Given the description of an element on the screen output the (x, y) to click on. 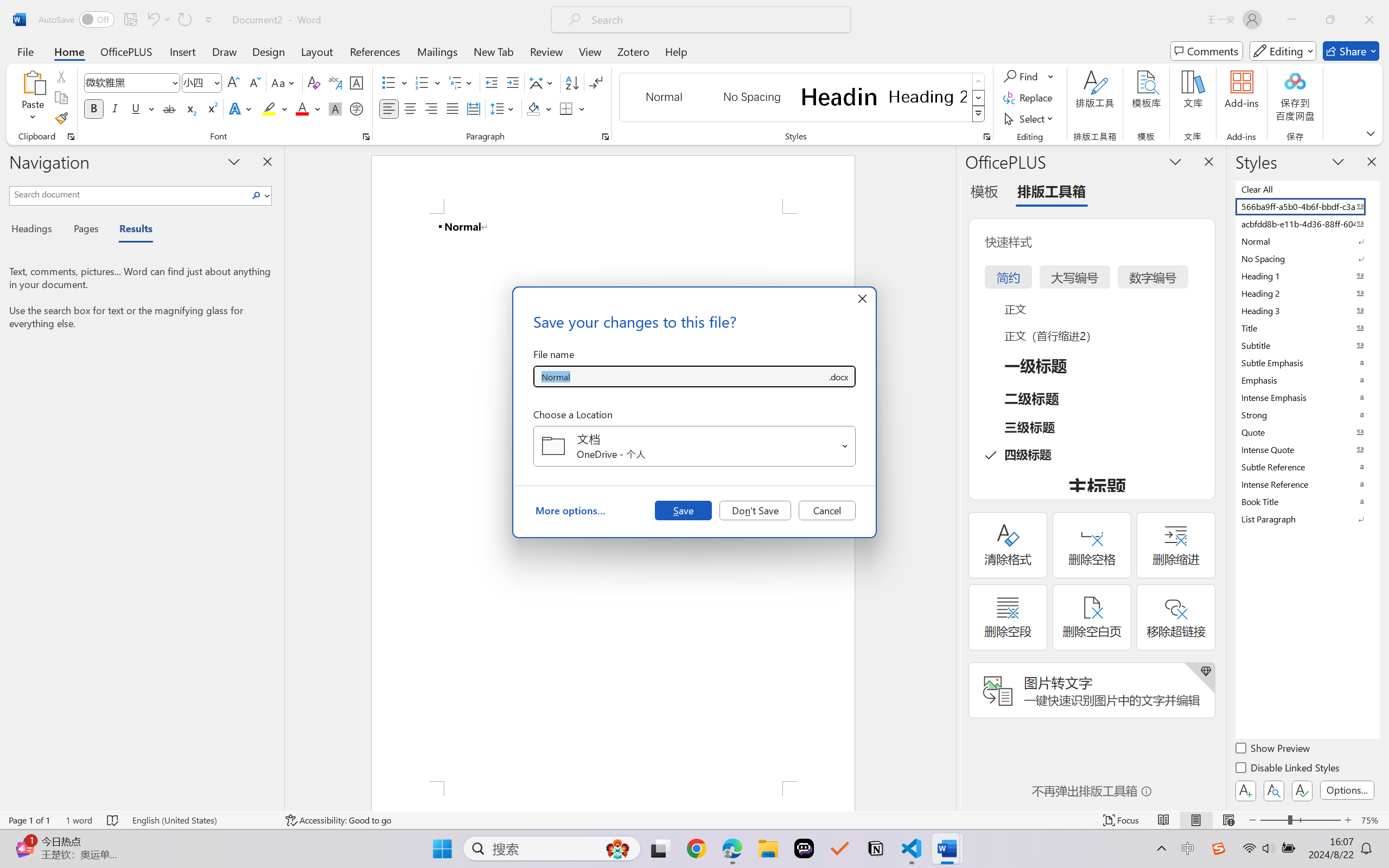
Underline (142, 108)
References (375, 51)
Change Case (284, 82)
Title (1306, 327)
566ba9ff-a5b0-4b6f-bbdf-c3ab41993fc2 (1306, 206)
Insert (182, 51)
Phonetic Guide... (334, 82)
Disable Linked Styles (1287, 769)
Text Highlight Color (274, 108)
Enclose Characters... (356, 108)
Emphasis (1306, 379)
